Given the description of an element on the screen output the (x, y) to click on. 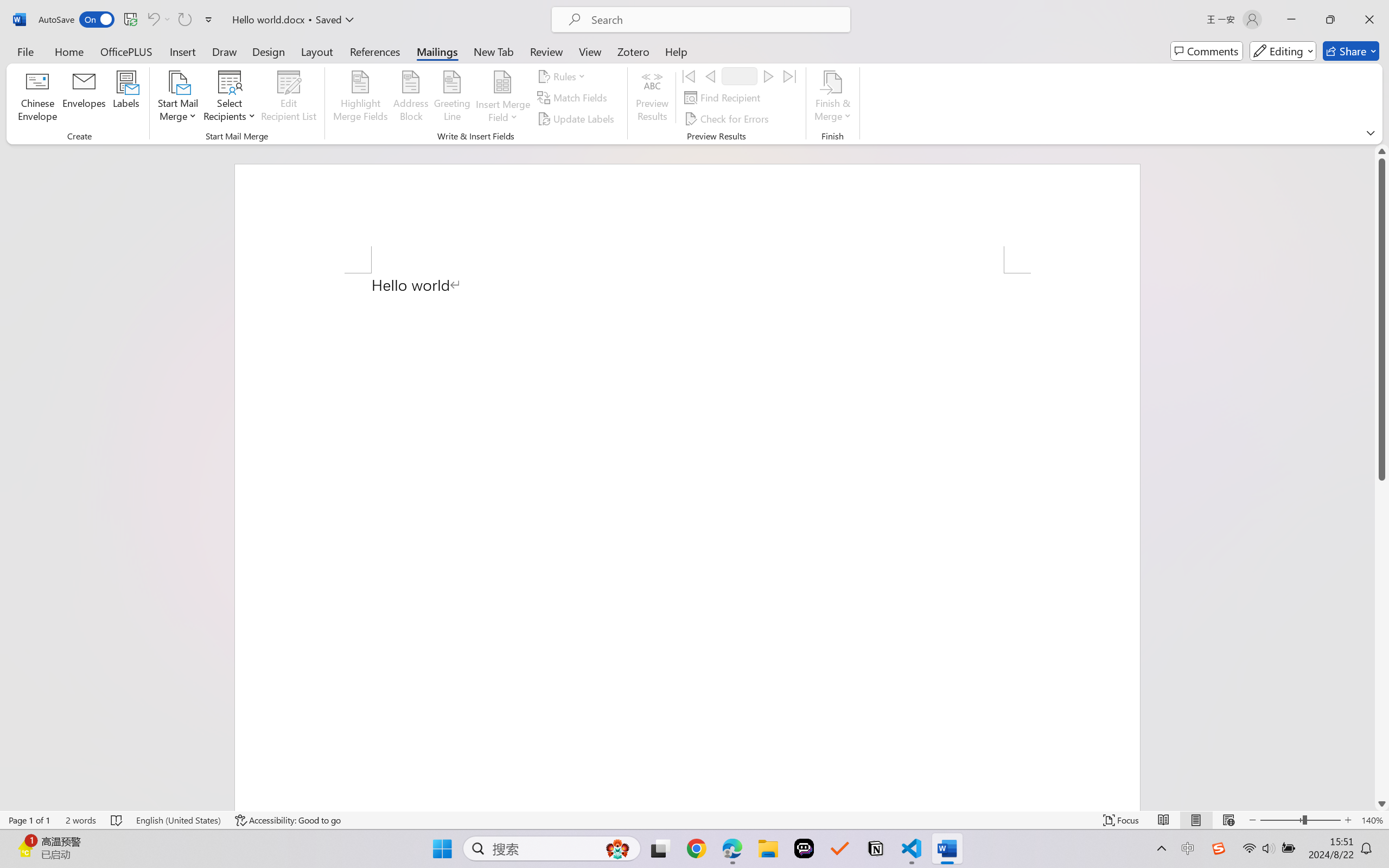
Record (739, 76)
Web Layout (1228, 819)
Accessibility Checker Accessibility: Good to go (288, 819)
Address Block... (410, 97)
Rules (563, 75)
Greeting Line... (451, 97)
Minimize (1291, 19)
Zoom (1300, 819)
Page Number Page 1 of 1 (29, 819)
Mode (1283, 50)
AutomationID: BadgeAnchorLargeTicker (24, 847)
Customize Quick Access Toolbar (208, 19)
Next (768, 75)
Zoom Out (1280, 819)
Labels... (126, 97)
